Given the description of an element on the screen output the (x, y) to click on. 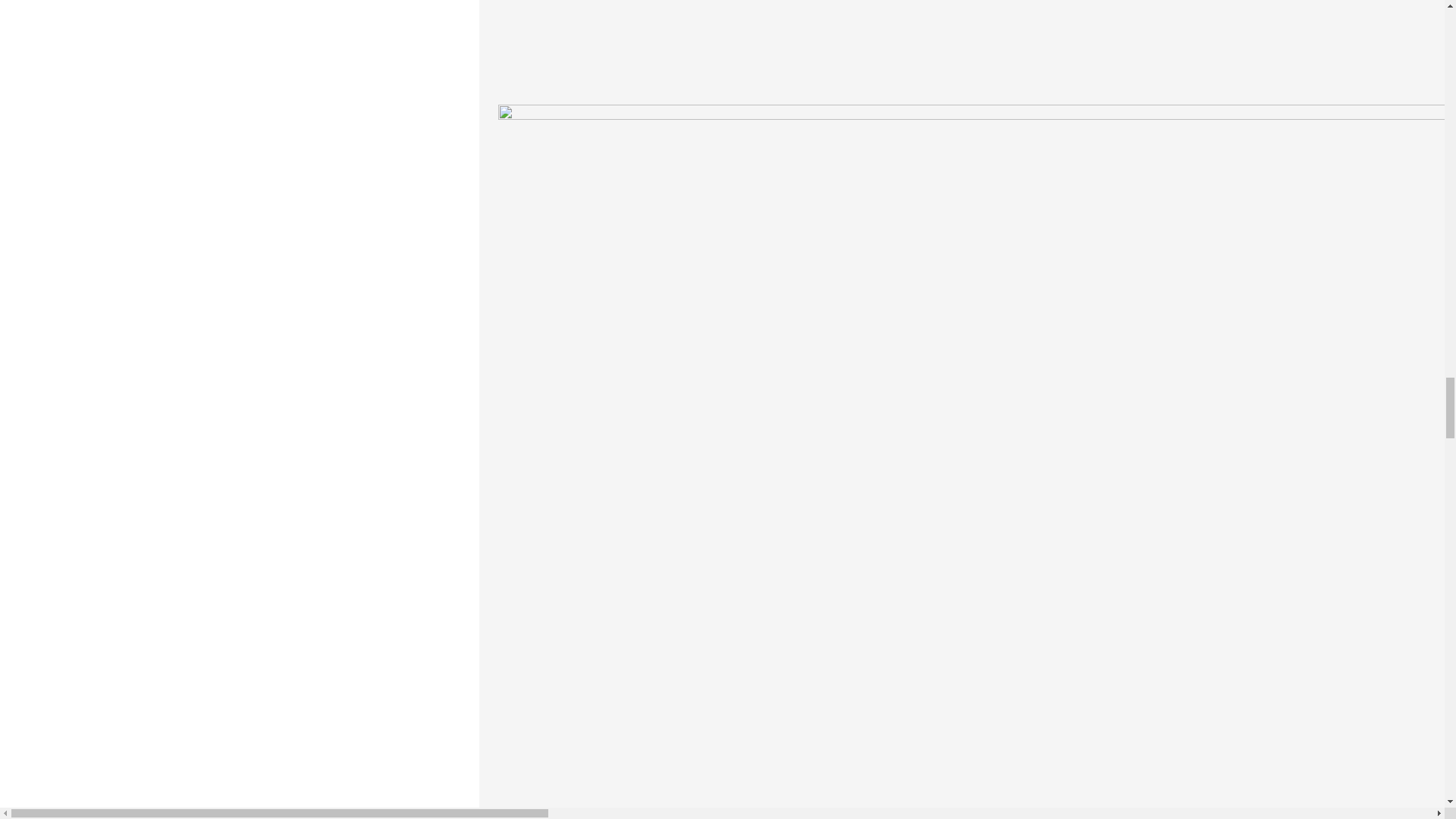
Buy the Book (976, 32)
